Given the description of an element on the screen output the (x, y) to click on. 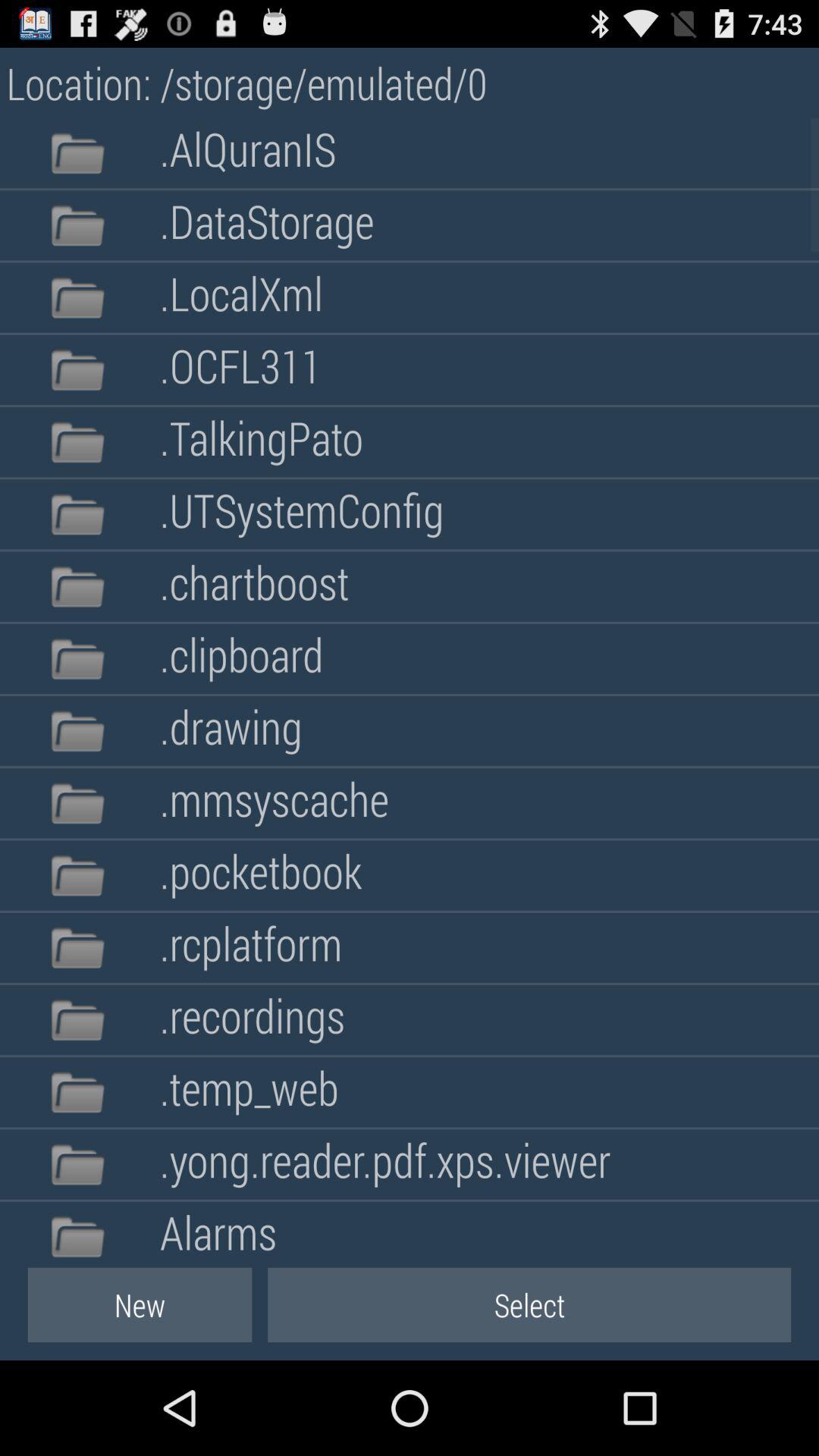
launch alarms app (217, 1230)
